Given the description of an element on the screen output the (x, y) to click on. 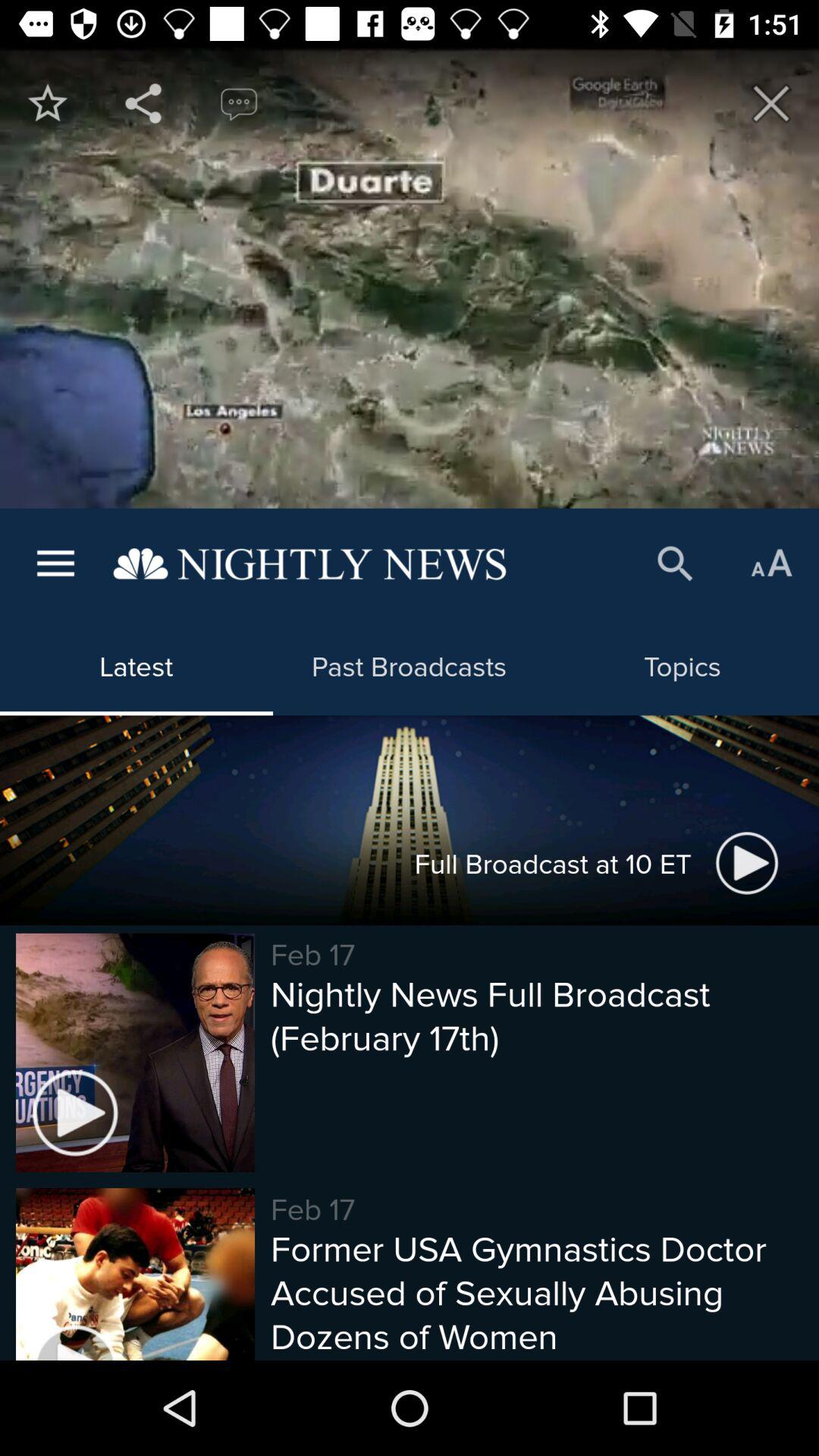
close out of this app (771, 103)
